Given the description of an element on the screen output the (x, y) to click on. 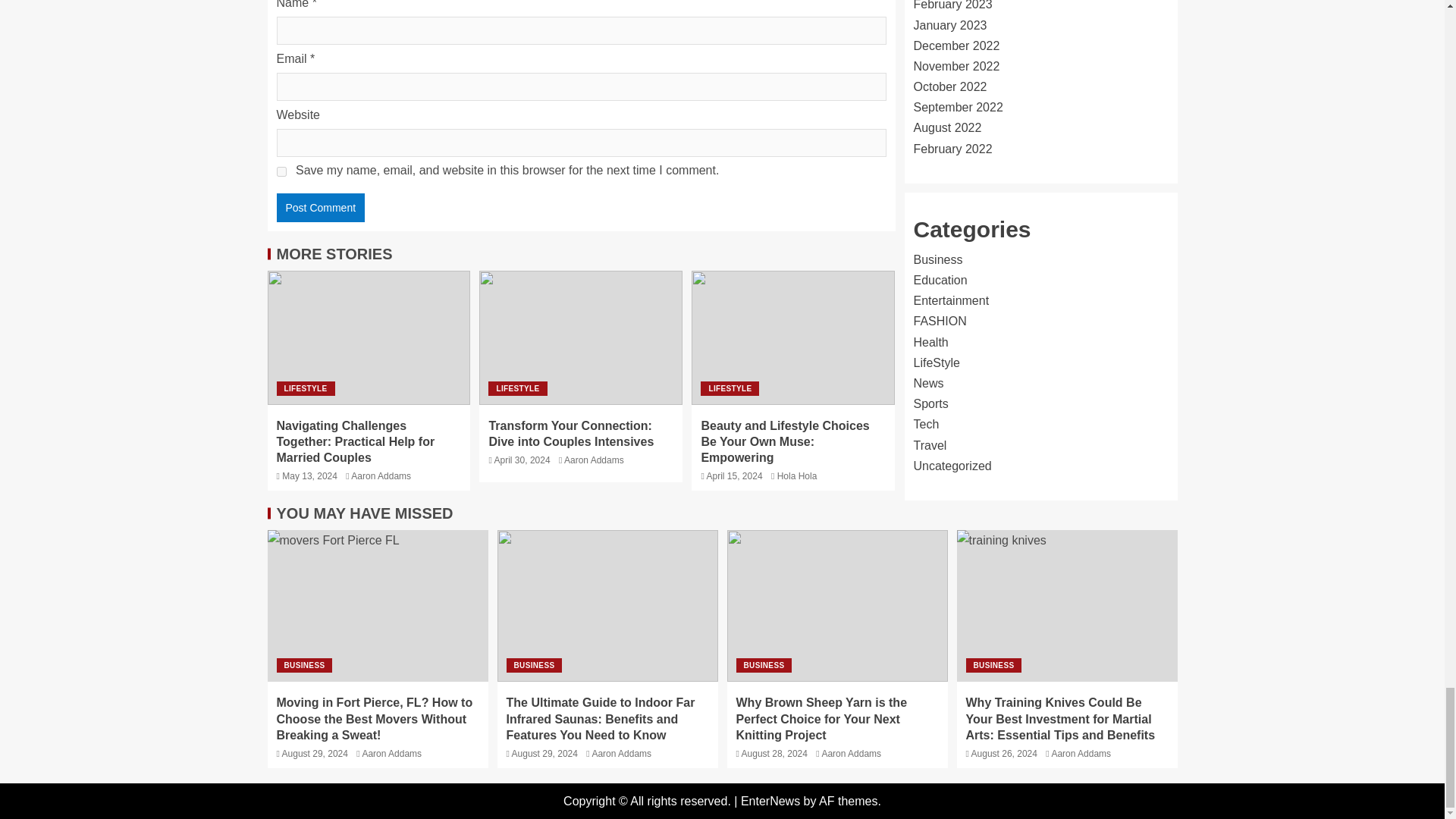
Hola Hola (796, 475)
Aaron Addams (380, 475)
LIFESTYLE (305, 388)
Aaron Addams (594, 460)
Beauty and Lifestyle Choices Be Your Own Muse: Empowering (784, 442)
Post Comment (320, 207)
yes (280, 171)
Post Comment (320, 207)
LIFESTYLE (729, 388)
